Given the description of an element on the screen output the (x, y) to click on. 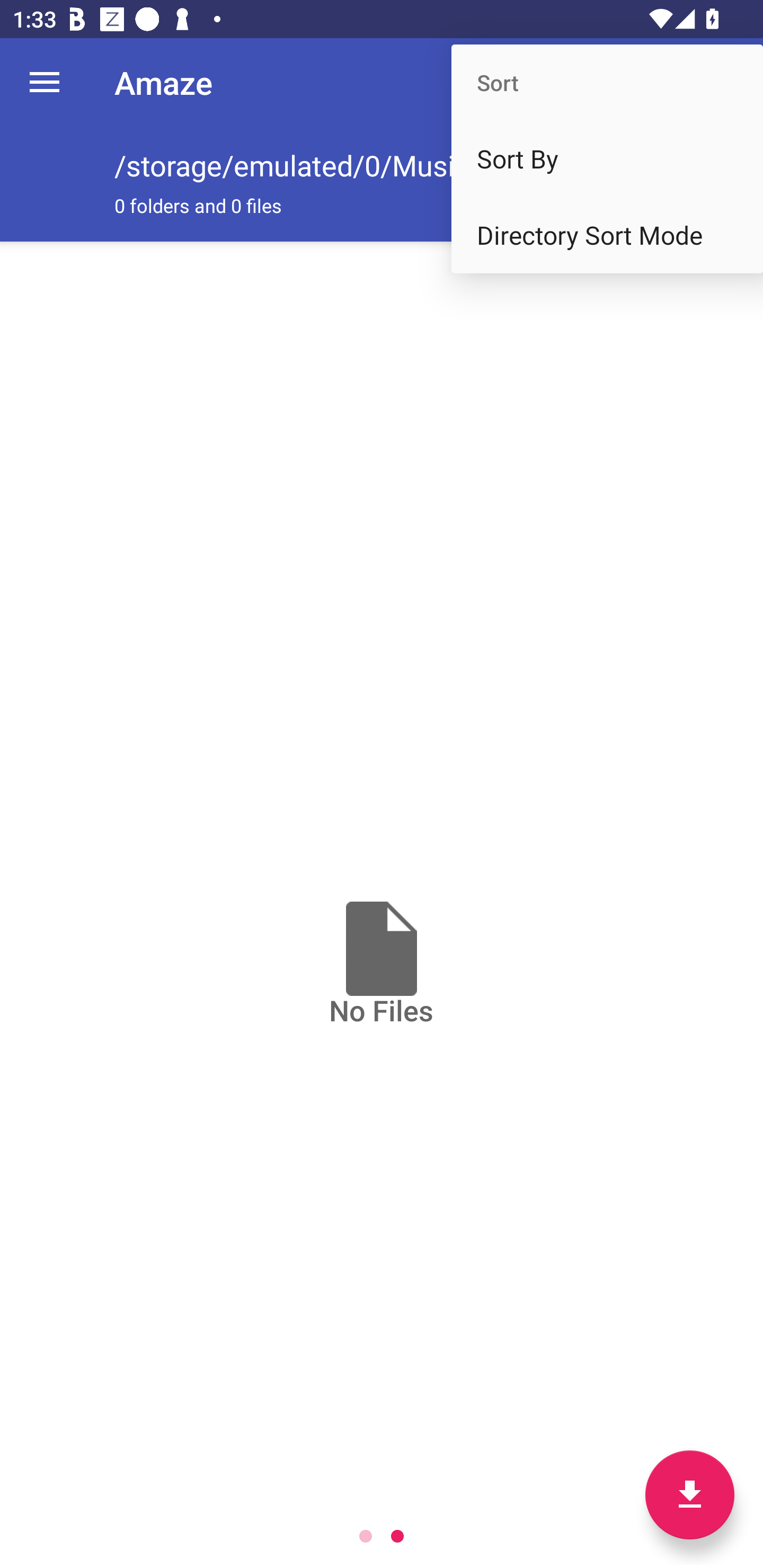
Sort By (607, 158)
Directory Sort Mode (607, 234)
